Given the description of an element on the screen output the (x, y) to click on. 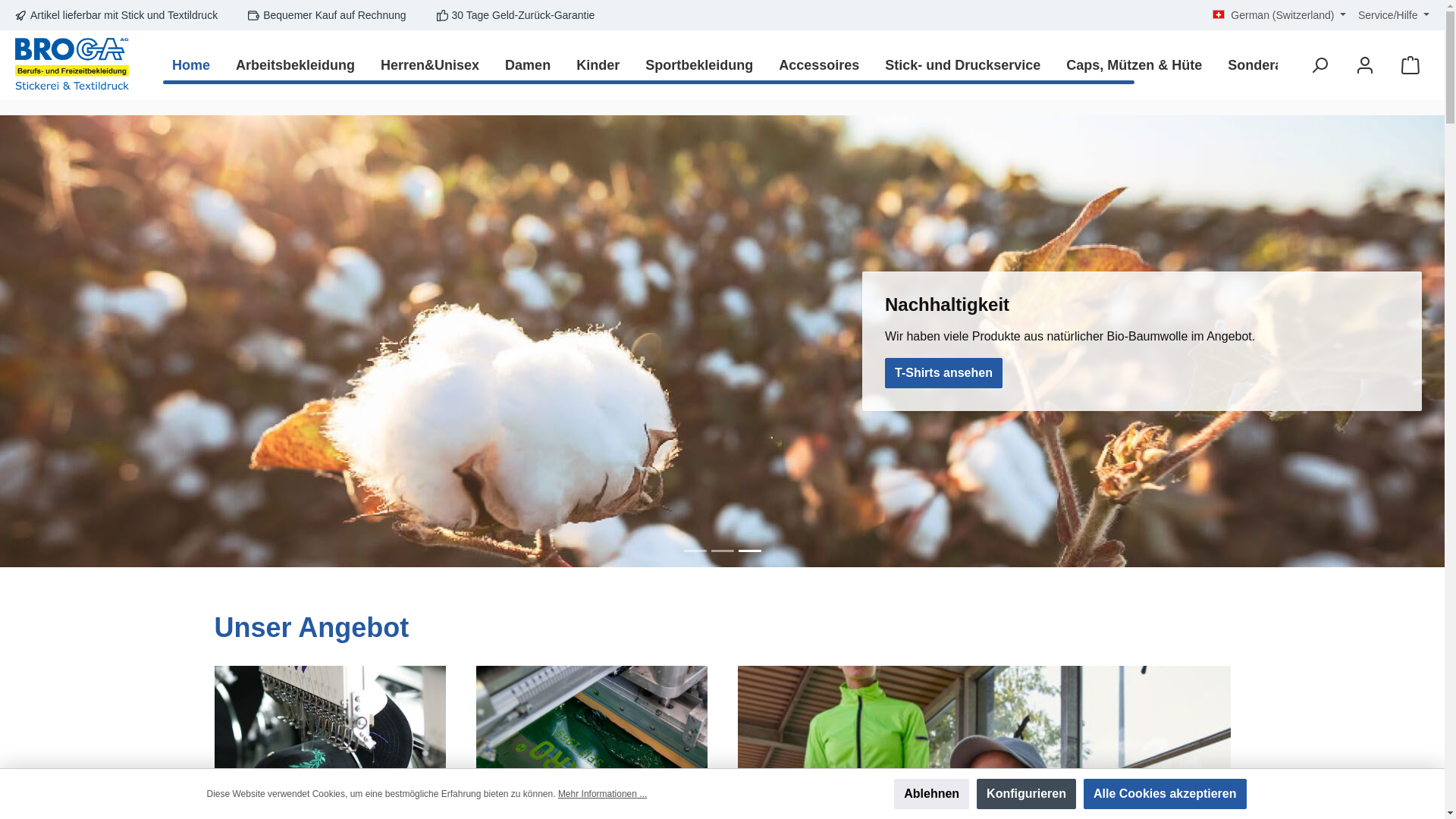
Stick- und Druckservice Element type: text (962, 64)
Sportbekleidung Element type: text (698, 64)
Konfigurieren Element type: text (1026, 793)
Ablehnen Element type: text (931, 793)
Sonderangebote Element type: text (1281, 64)
Hersteller Element type: text (1392, 64)
Home Element type: text (190, 64)
Alle Cookies akzeptieren Element type: text (1164, 793)
Warenkorb Element type: hover (1410, 65)
Arbeitsbekleidung Element type: text (294, 64)
T-Shirts ansehen Element type: text (943, 372)
Accessoires Element type: text (818, 64)
Service/Hilfe Element type: text (1393, 15)
Damen Element type: text (527, 64)
German (Switzerland) Element type: text (1279, 15)
Zur Startseite gehen Element type: hover (71, 64)
Mein Konto Element type: hover (1364, 65)
Herren&Unisex Element type: text (429, 64)
Mehr Informationen ... Element type: text (602, 793)
Kinder Element type: text (597, 64)
